Given the description of an element on the screen output the (x, y) to click on. 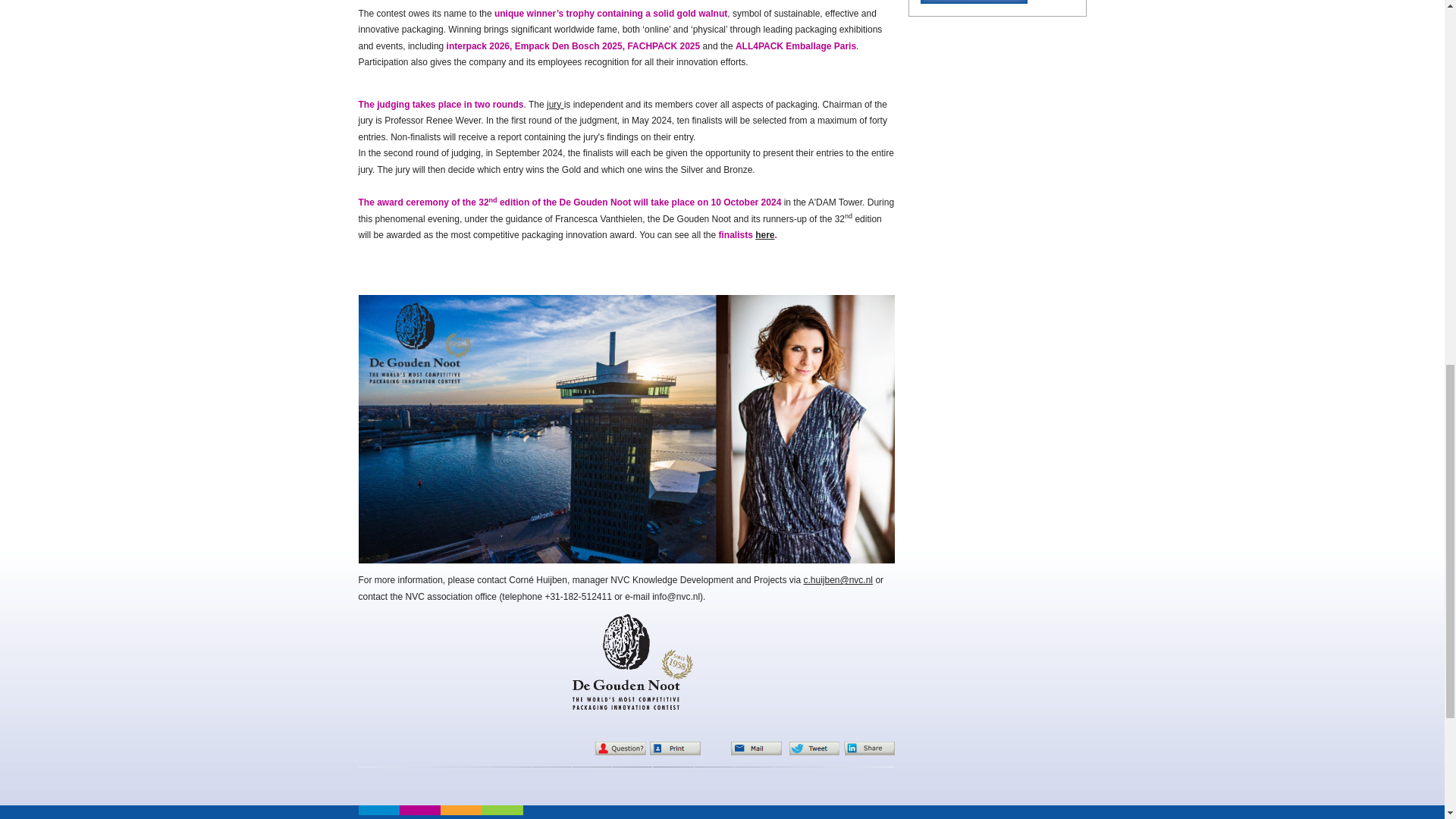
jury (555, 104)
here (764, 235)
All activities (976, 2)
